Given the description of an element on the screen output the (x, y) to click on. 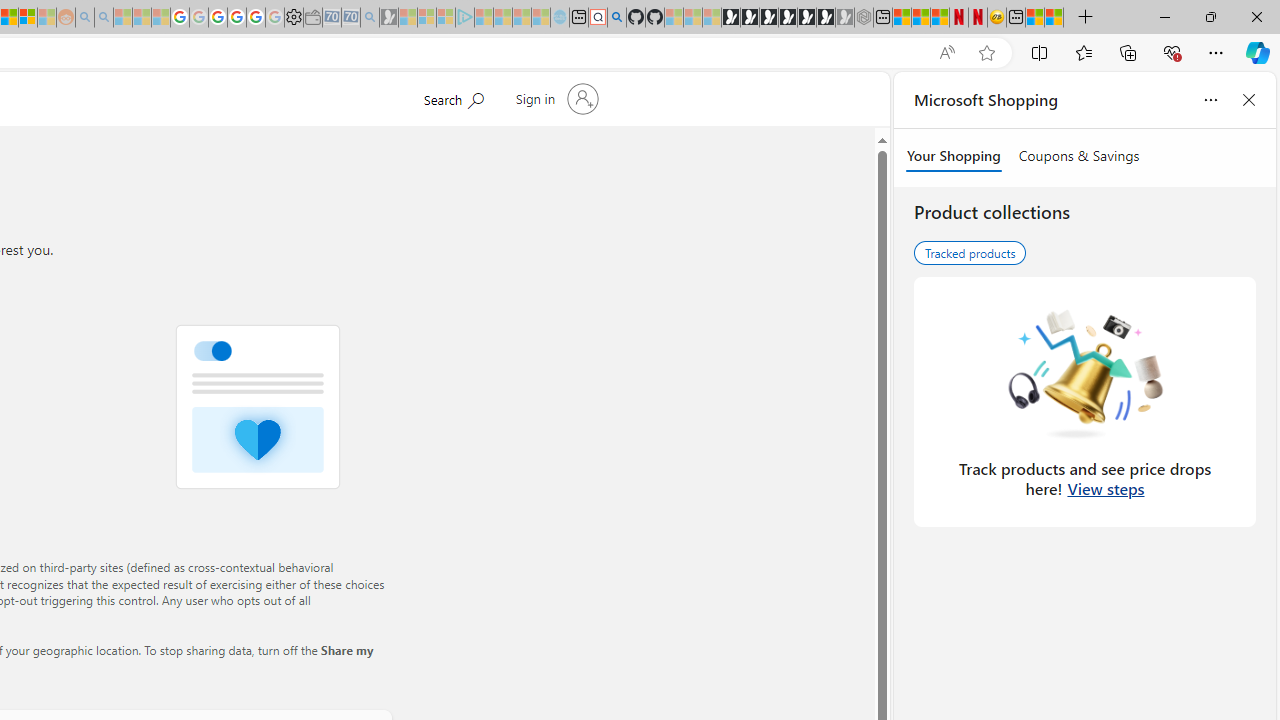
Microsoft Start Gaming - Sleeping (389, 17)
Wildlife - MSN (1035, 17)
Bing Real Estate - Home sales and rental listings - Sleeping (369, 17)
Play Cave FRVR in your browser | Games from Microsoft Start (769, 17)
Utah sues federal government - Search - Sleeping (103, 17)
